Given the description of an element on the screen output the (x, y) to click on. 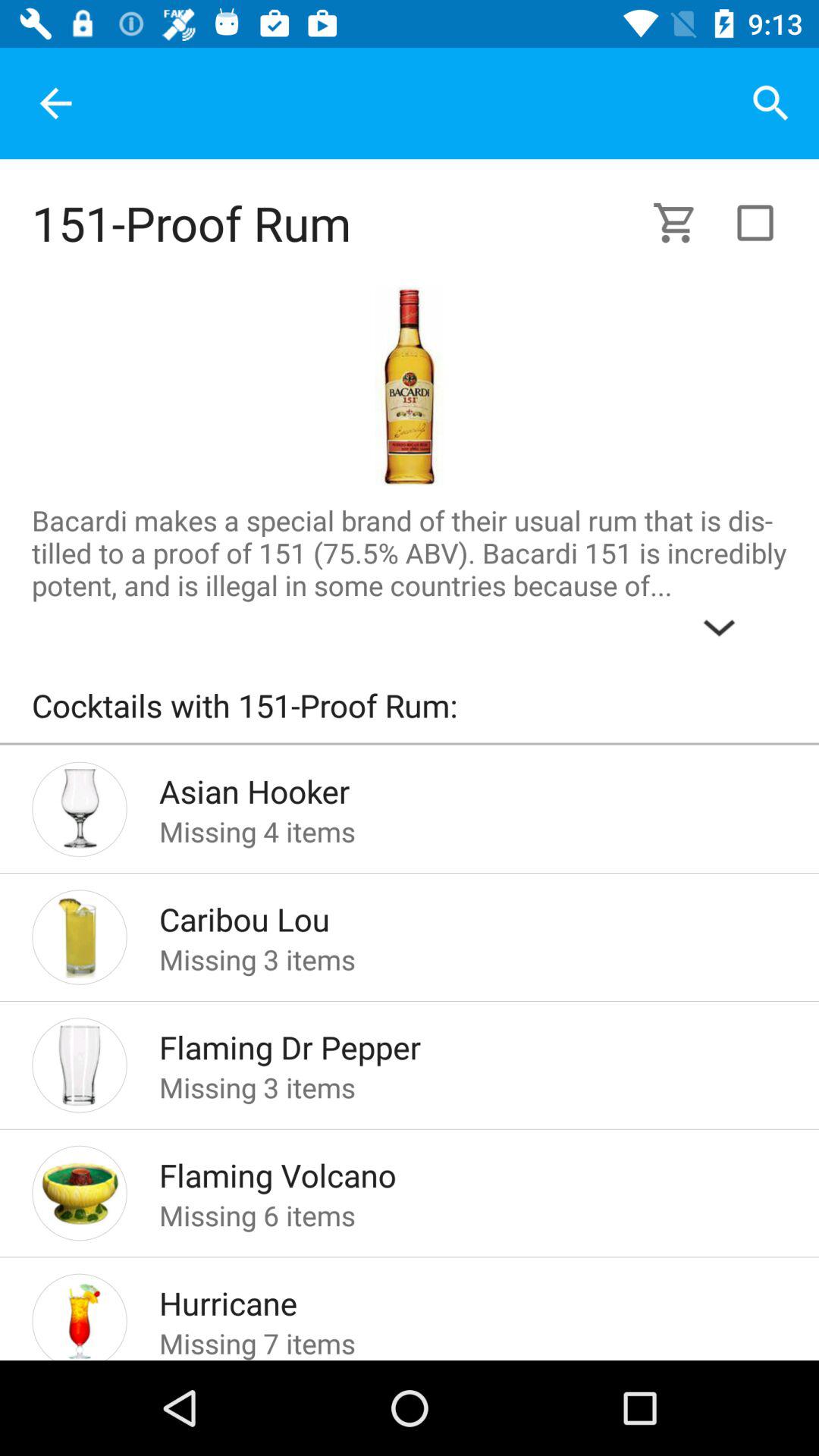
zoom image (409, 385)
